Given the description of an element on the screen output the (x, y) to click on. 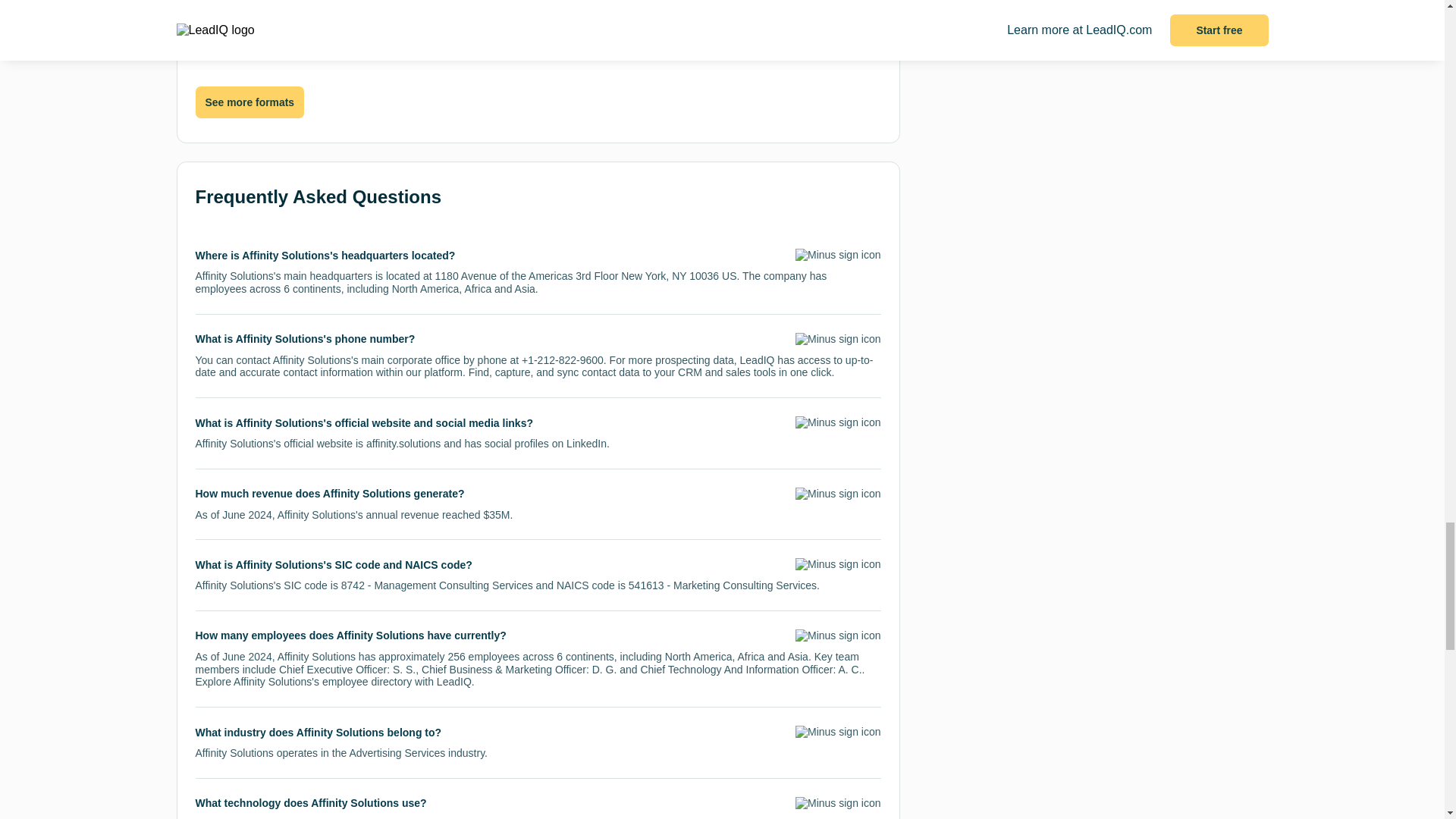
See more formats (249, 102)
affinity.solutions (403, 443)
LinkedIn (586, 443)
See more formats (249, 101)
Affinity Solutions's employee directory (322, 681)
